Given the description of an element on the screen output the (x, y) to click on. 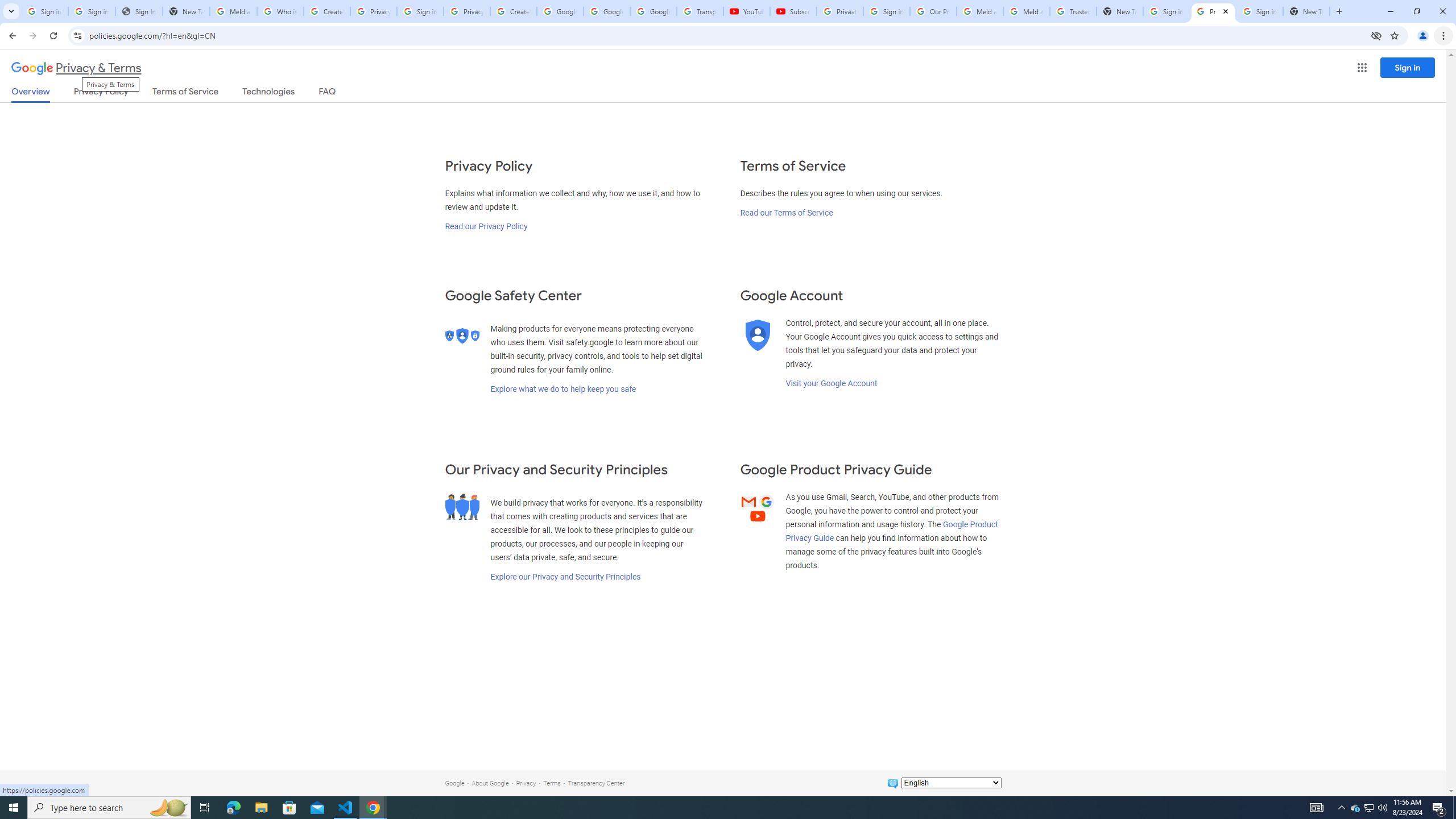
Technologies (268, 93)
Sign in - Google Accounts (1259, 11)
Sign in - Google Accounts (419, 11)
Back (10, 35)
Transparency Center (595, 783)
